Given the description of an element on the screen output the (x, y) to click on. 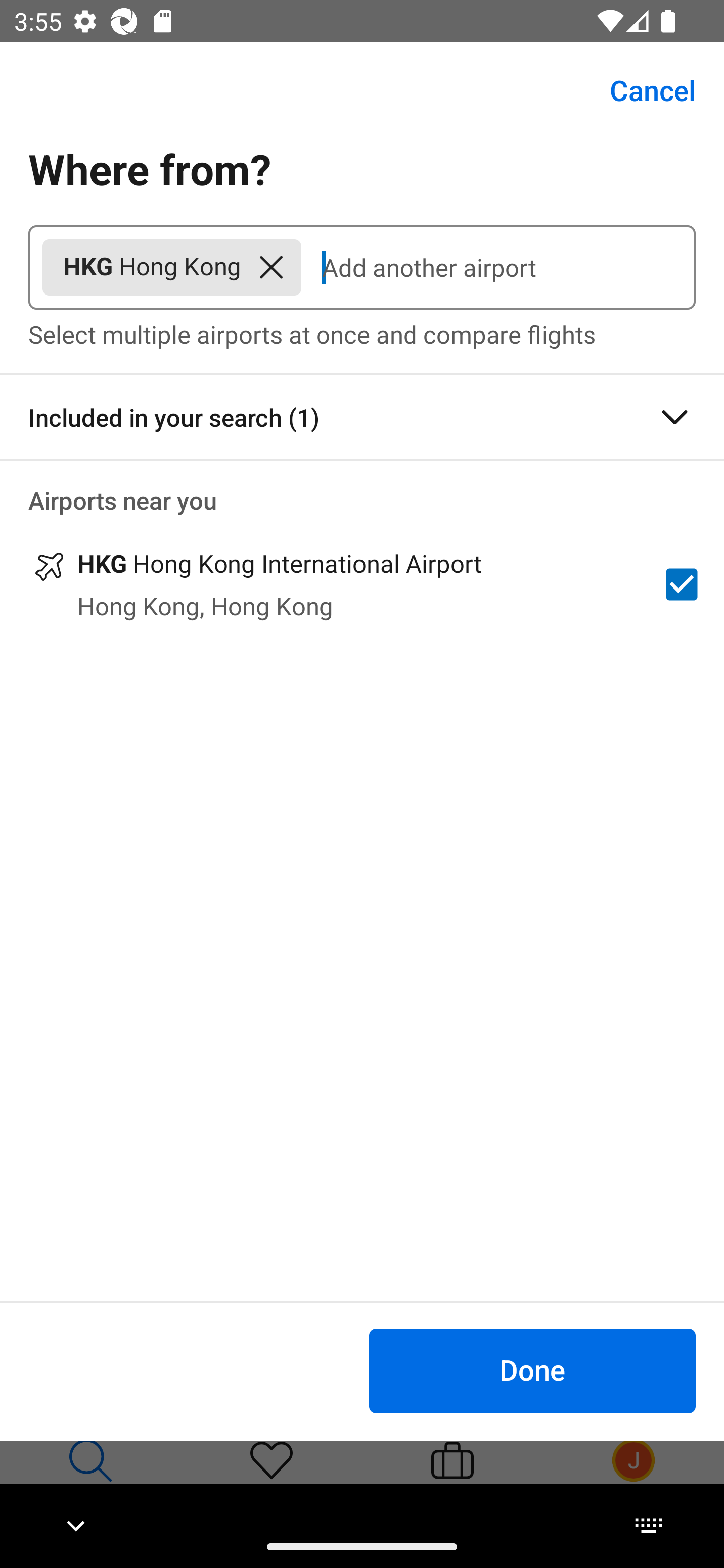
Cancel (641, 90)
Add another airport (498, 266)
HKG Hong Kong Remove HKG Hong Kong (171, 266)
Included in your search (1) (362, 416)
Done (532, 1370)
